Given the description of an element on the screen output the (x, y) to click on. 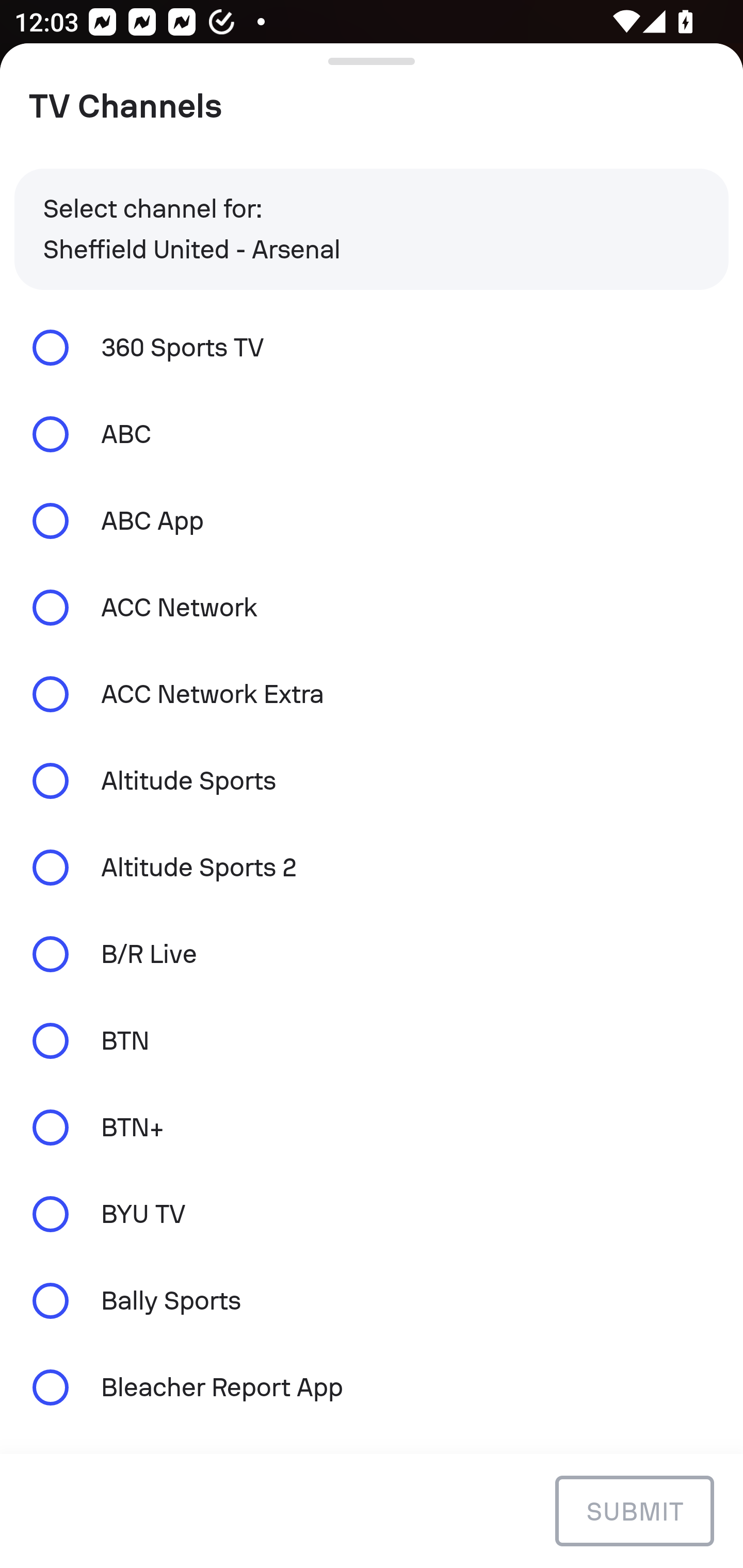
360 Sports TV (371, 347)
ABC (371, 434)
ABC App (371, 521)
ACC Network (371, 607)
ACC Network Extra (371, 693)
Altitude Sports (371, 780)
Altitude Sports 2 (371, 867)
B/R Live (371, 954)
BTN (371, 1040)
BTN+ (371, 1127)
BYU TV (371, 1214)
Bally Sports (371, 1300)
Bleacher Report App (371, 1386)
SUBMIT (634, 1510)
